Given the description of an element on the screen output the (x, y) to click on. 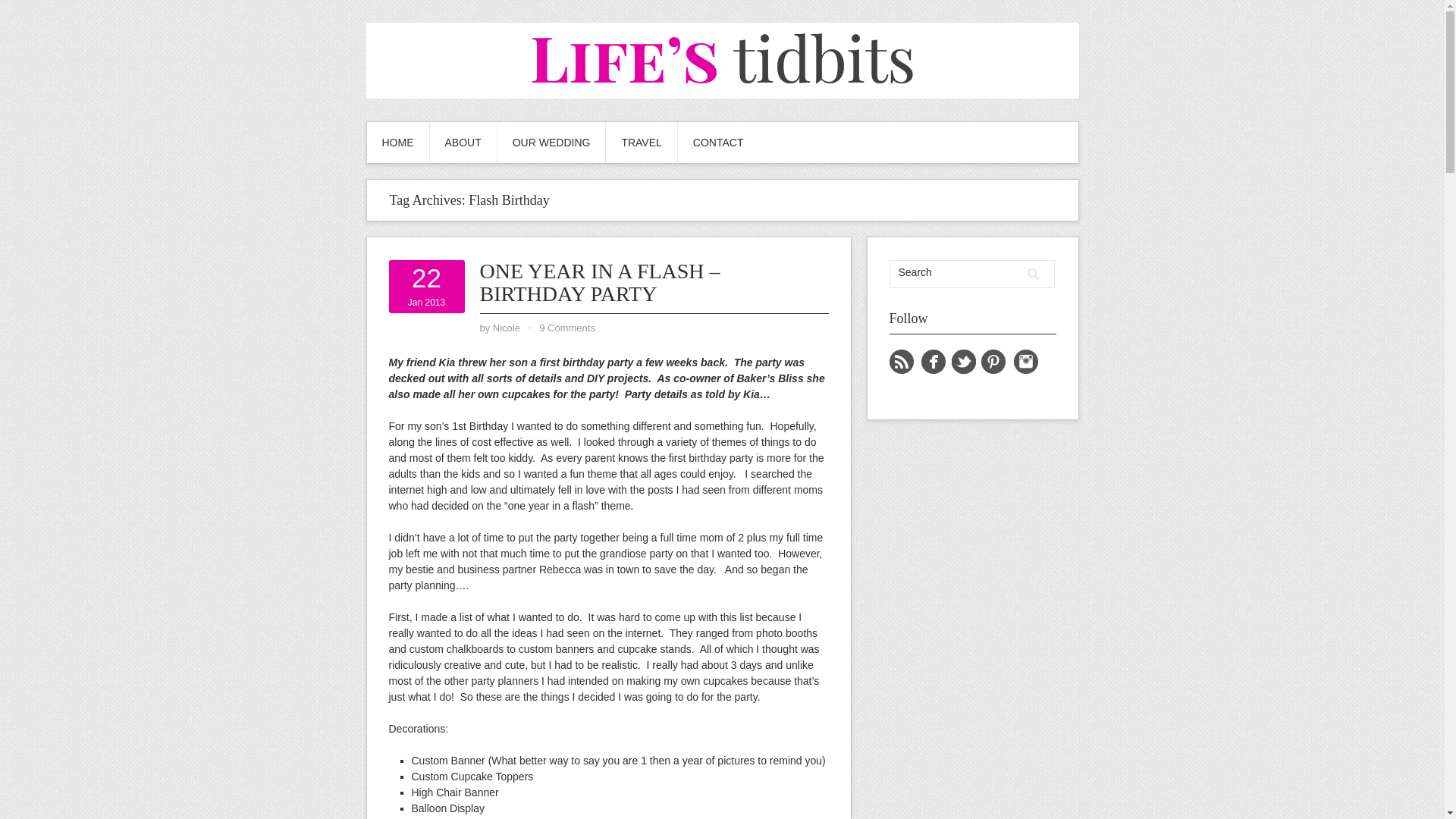
9 Comments (566, 327)
Search (426, 286)
January 22, 2013 9:10 PM (1032, 273)
OUR WEDDING (426, 286)
ABOUT (551, 142)
Nicole (462, 142)
Search (506, 327)
by Nicole (1032, 273)
TRAVEL (506, 327)
